Given the description of an element on the screen output the (x, y) to click on. 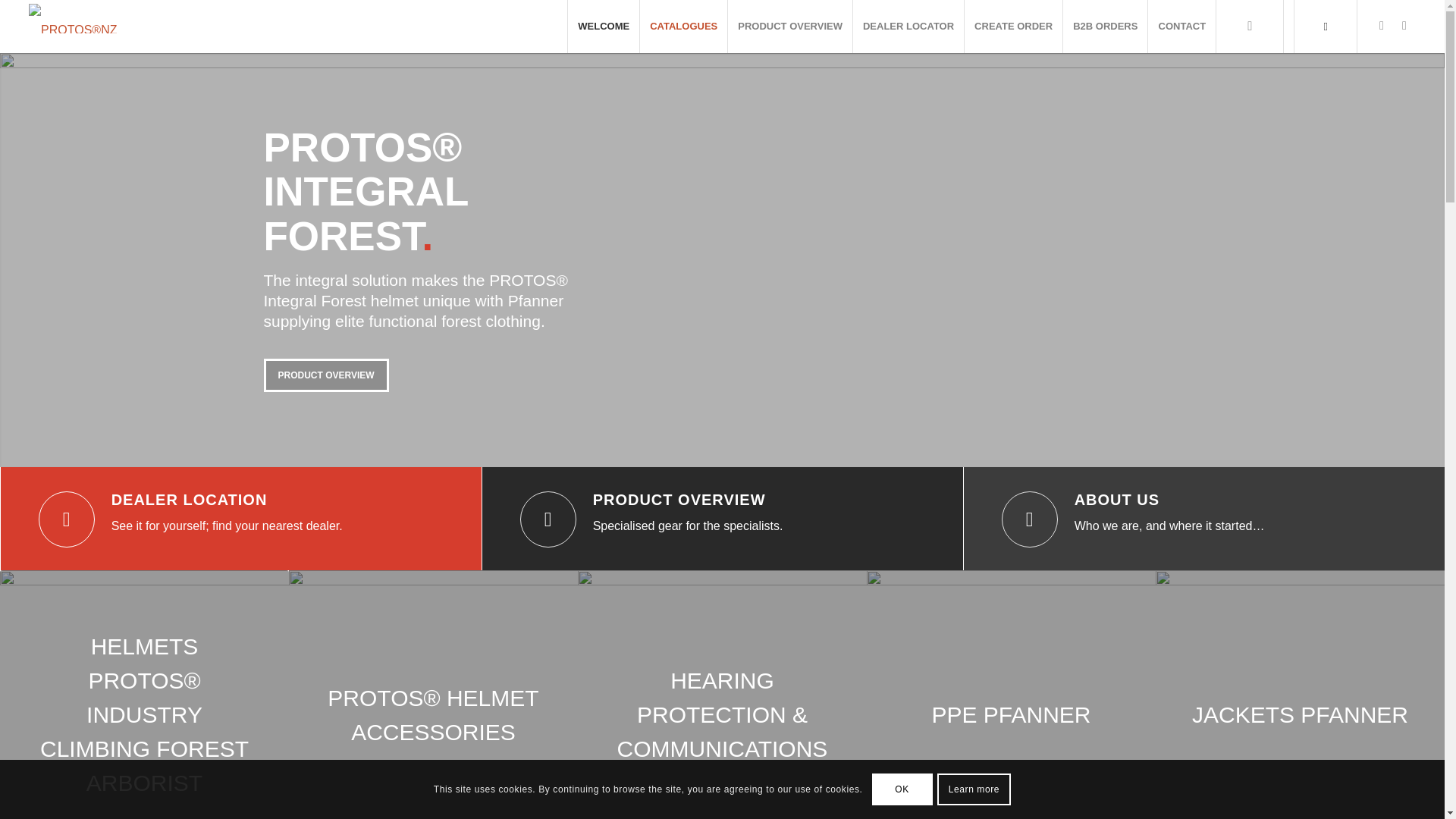
205200-10-P10 (722, 694)
Protos-NZ-logo (72, 18)
CREATE ORDER (1012, 26)
PRODUCT OVERVIEW (788, 26)
CONTACT (1181, 26)
CATALOGUES (682, 26)
Accessories image (433, 694)
WELCOME (603, 26)
Helmets image (144, 694)
PRODUCT OVERVIEW (283, 375)
